Given the description of an element on the screen output the (x, y) to click on. 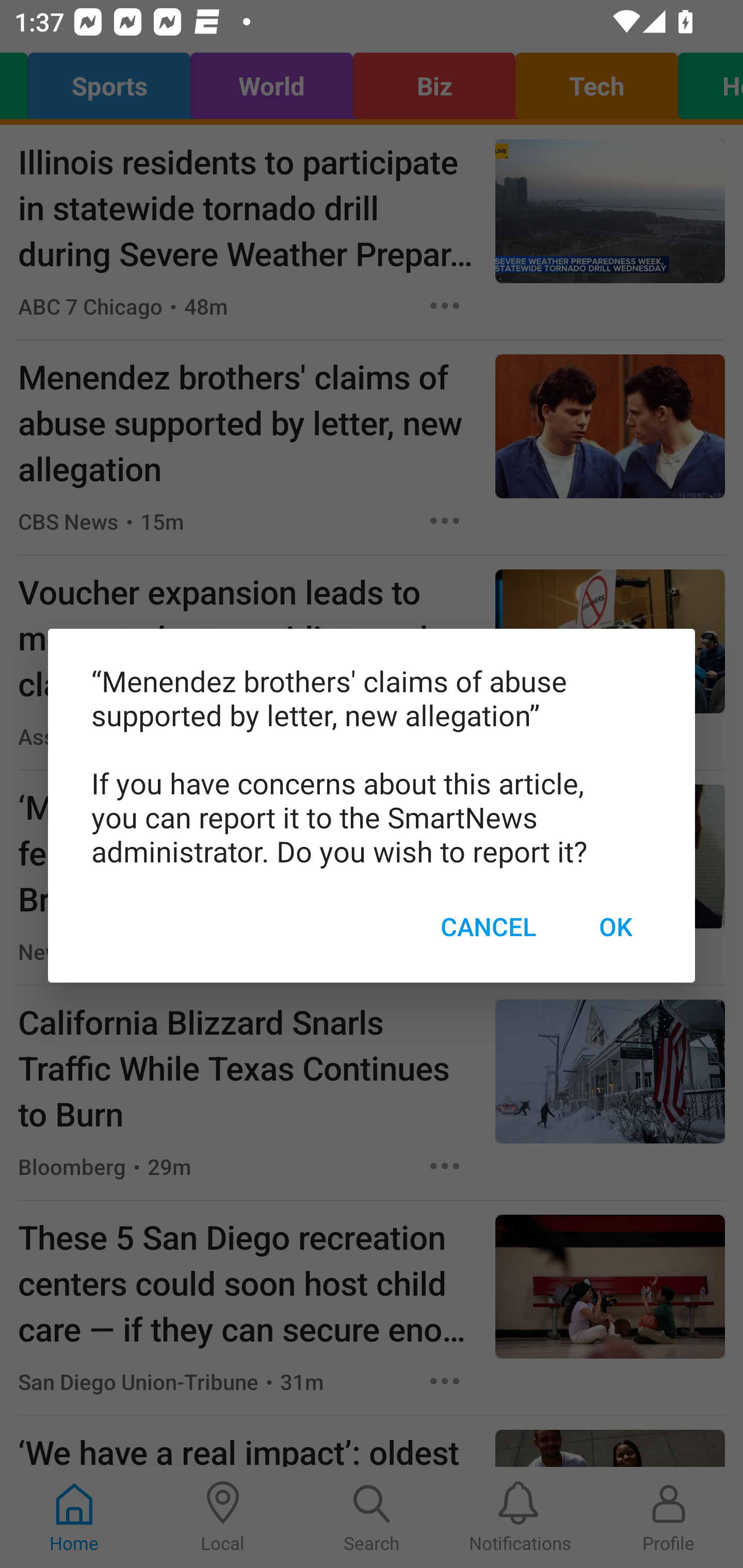
CANCEL (488, 926)
OK (615, 926)
